Given the description of an element on the screen output the (x, y) to click on. 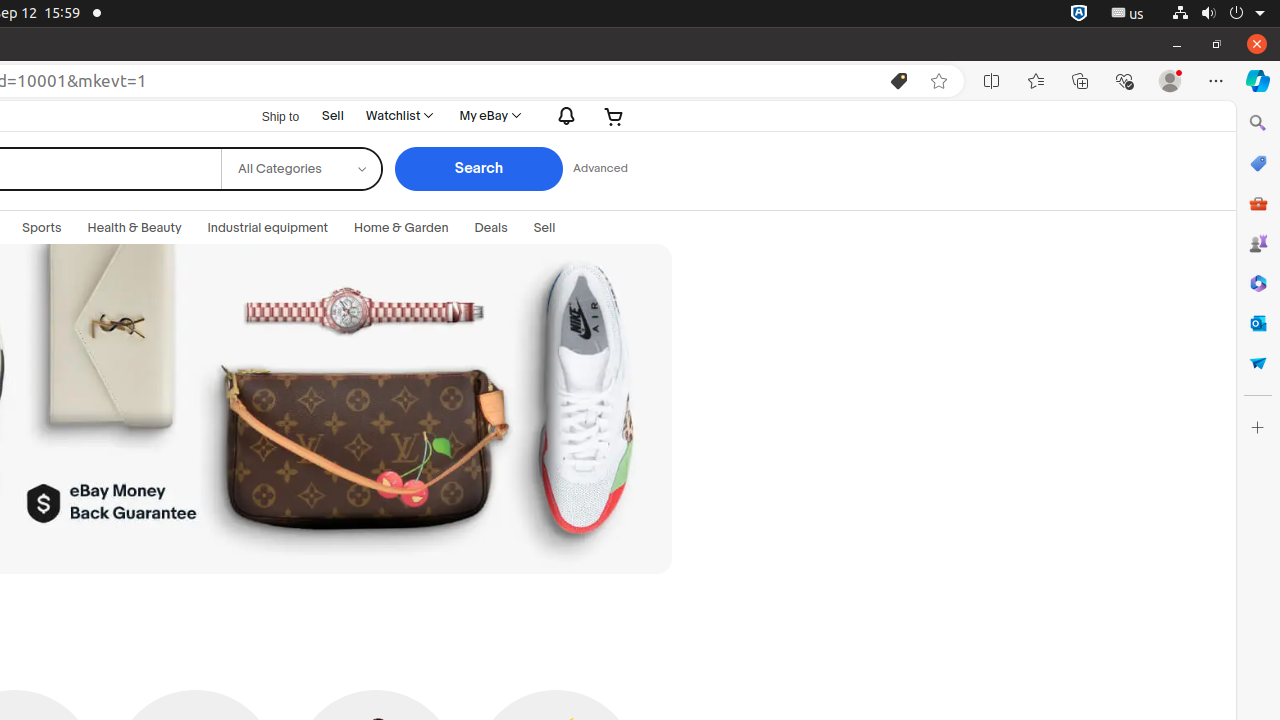
Sell Element type: link (333, 115)
Sports Element type: link (42, 228)
This site has coupons! Shopping in Microsoft Edge Element type: push-button (899, 81)
Microsoft 365 Element type: push-button (1258, 283)
Split screen Element type: push-button (992, 81)
